Given the description of an element on the screen output the (x, y) to click on. 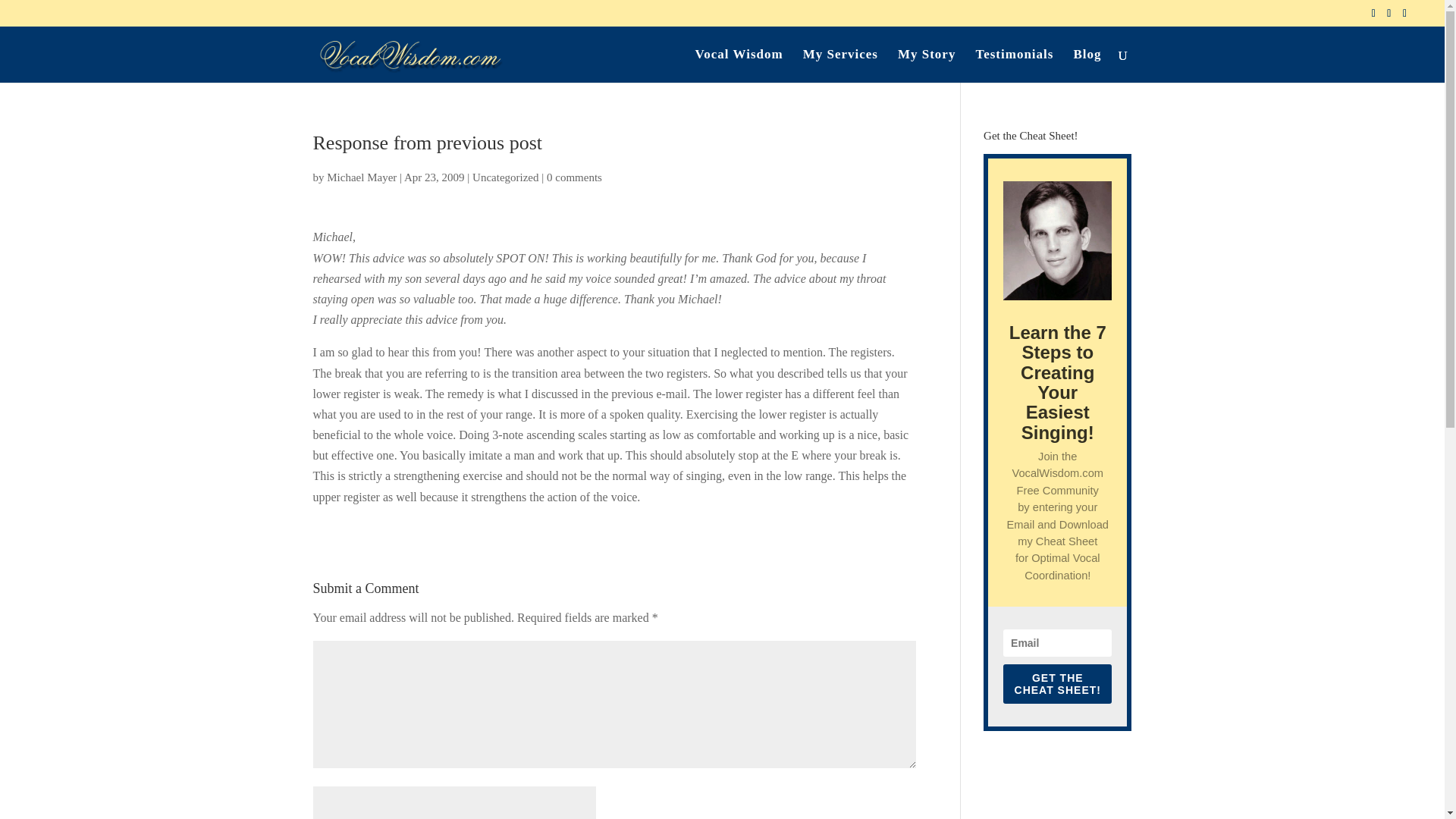
GET THE CHEAT SHEET! (1057, 683)
Uncategorized (504, 177)
My Services (840, 65)
Michael Mayer (361, 177)
Vocal Wisdom (739, 65)
My Story (926, 65)
Testimonials (1013, 65)
Posts by Michael Mayer (361, 177)
0 comments (574, 177)
